Given the description of an element on the screen output the (x, y) to click on. 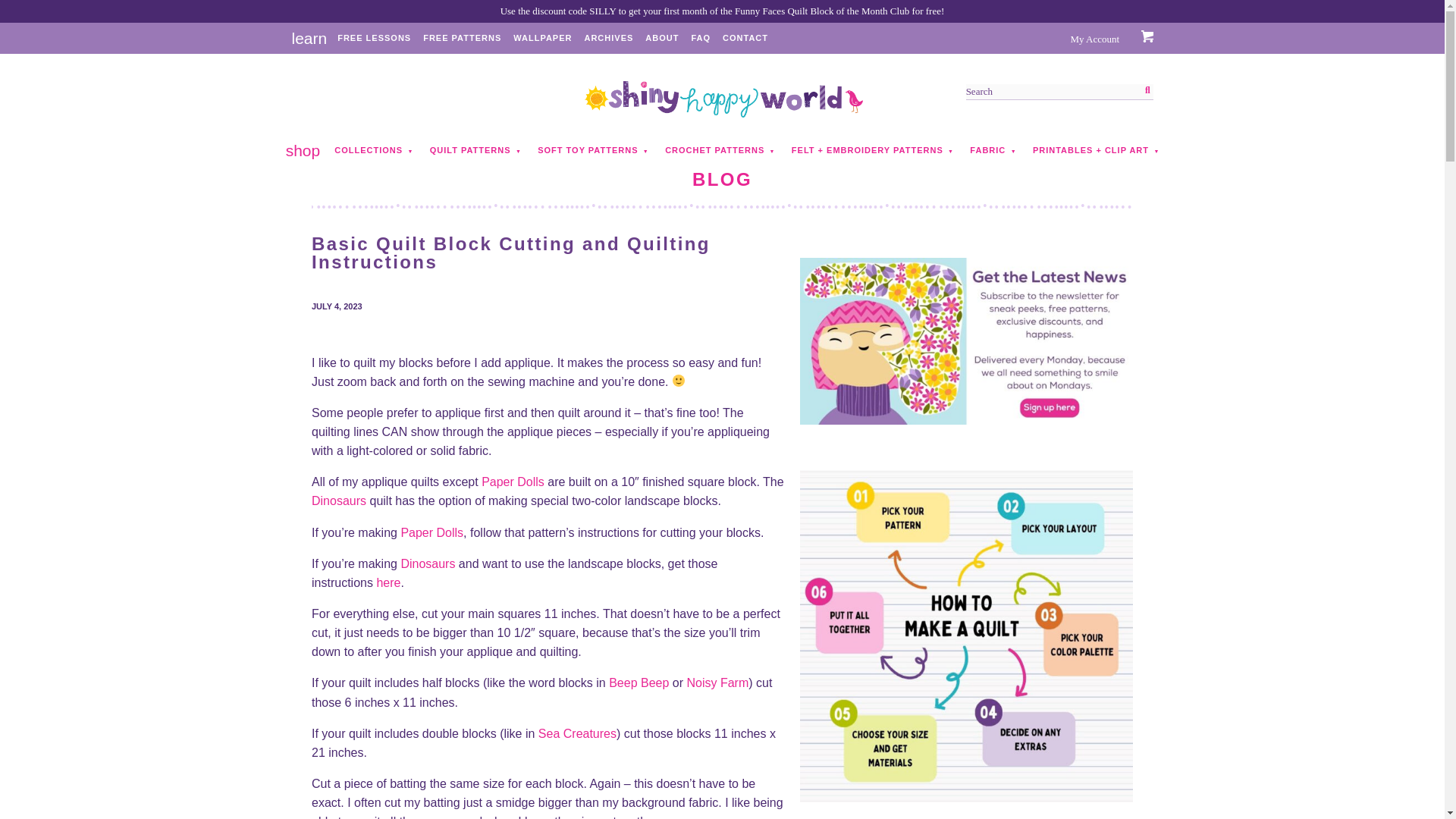
Collections (368, 149)
Soft Toy Patterns (588, 149)
Quilt Patterns (470, 149)
